Given the description of an element on the screen output the (x, y) to click on. 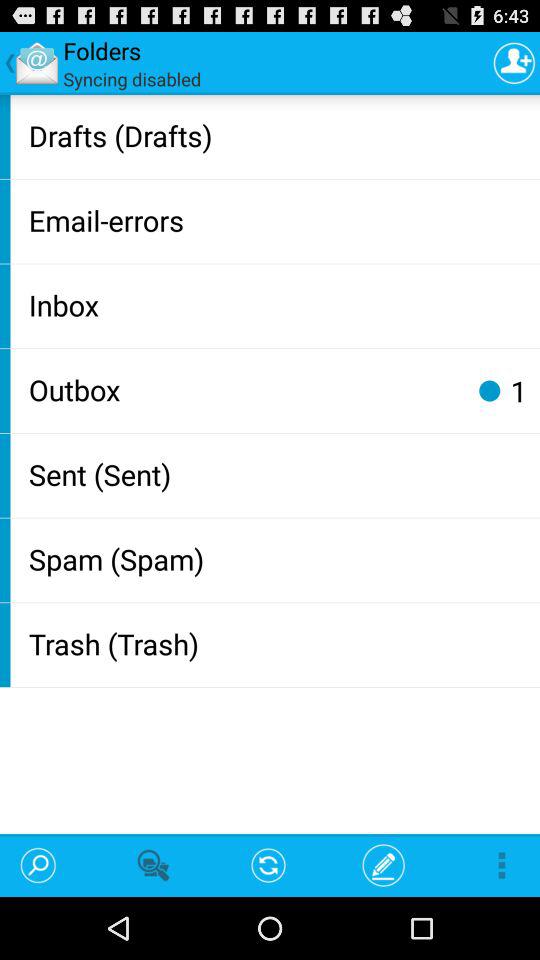
tap app below the trash (trash) (383, 864)
